Given the description of an element on the screen output the (x, y) to click on. 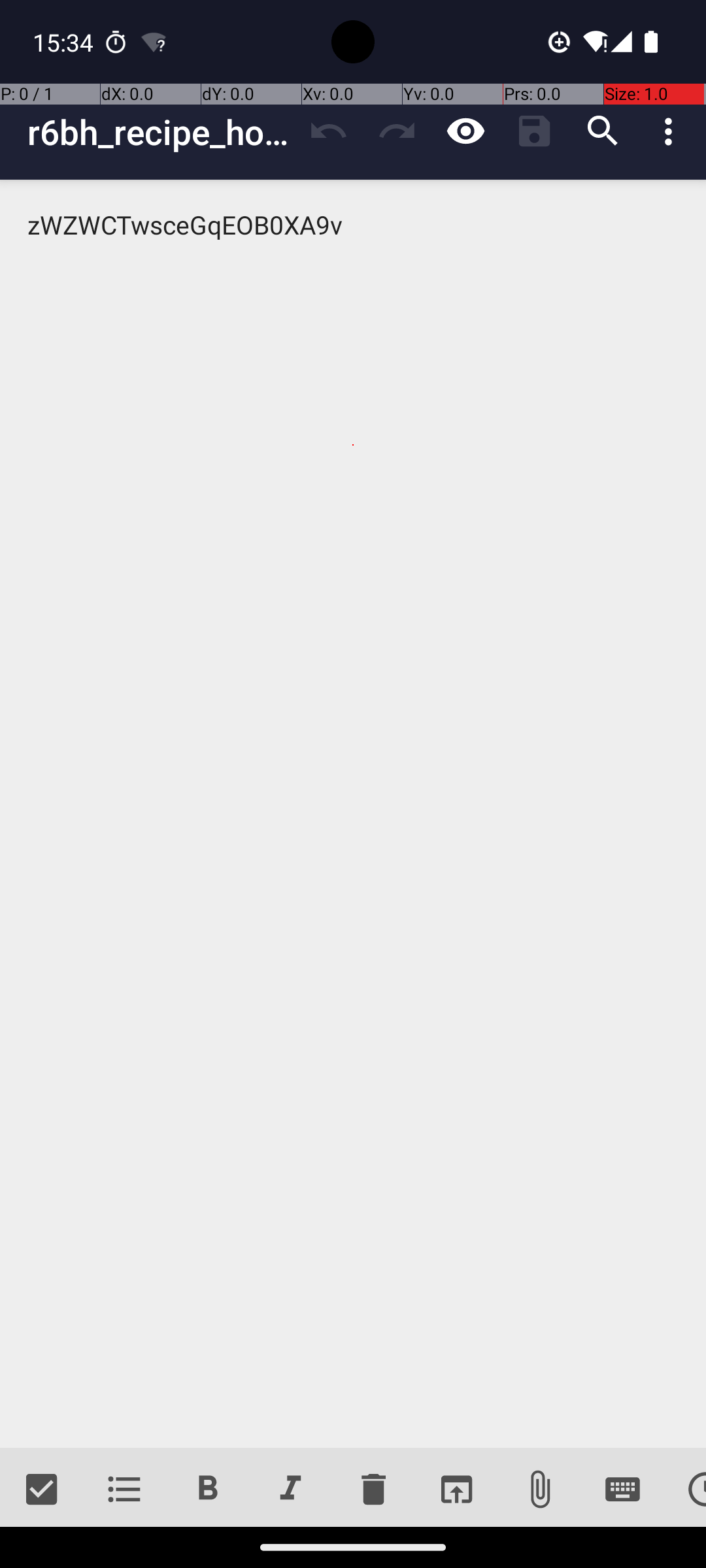
r6bh_recipe_homemade_pizza Element type: android.widget.TextView (160, 131)
zWZWCTwsceGqEOB0XA9v
 Element type: android.widget.EditText (353, 813)
